Given the description of an element on the screen output the (x, y) to click on. 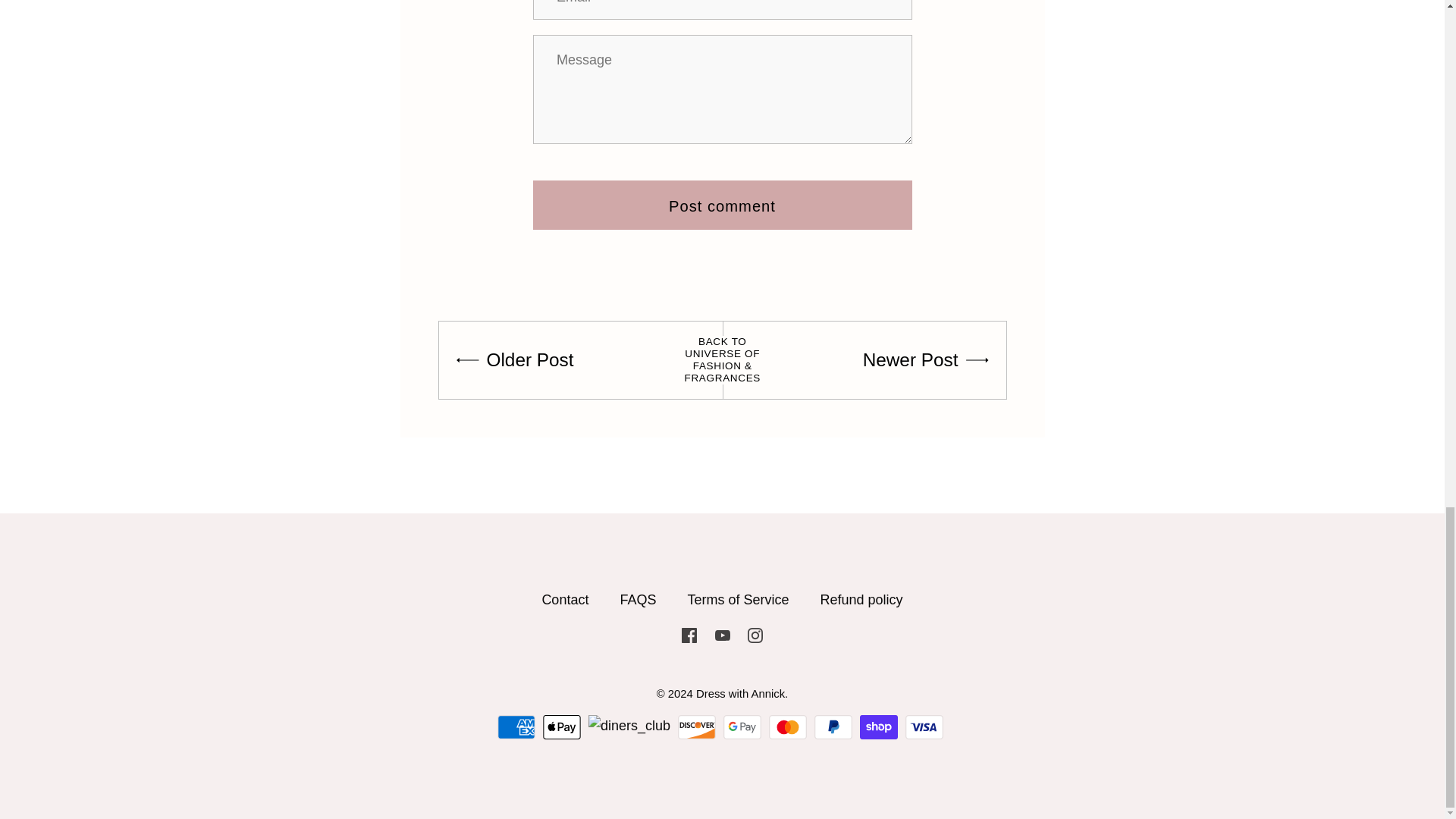
Youtube (721, 634)
Instagram (755, 634)
Dress with Annick (739, 693)
Newer Post (927, 359)
Instagram (755, 634)
Youtube (721, 635)
Contact (564, 599)
Older Post (512, 359)
Instagram (755, 635)
FAQS (638, 599)
Terms of Service (738, 599)
Post comment (721, 205)
Youtube (721, 634)
Facebook (689, 634)
Facebook (689, 634)
